Given the description of an element on the screen output the (x, y) to click on. 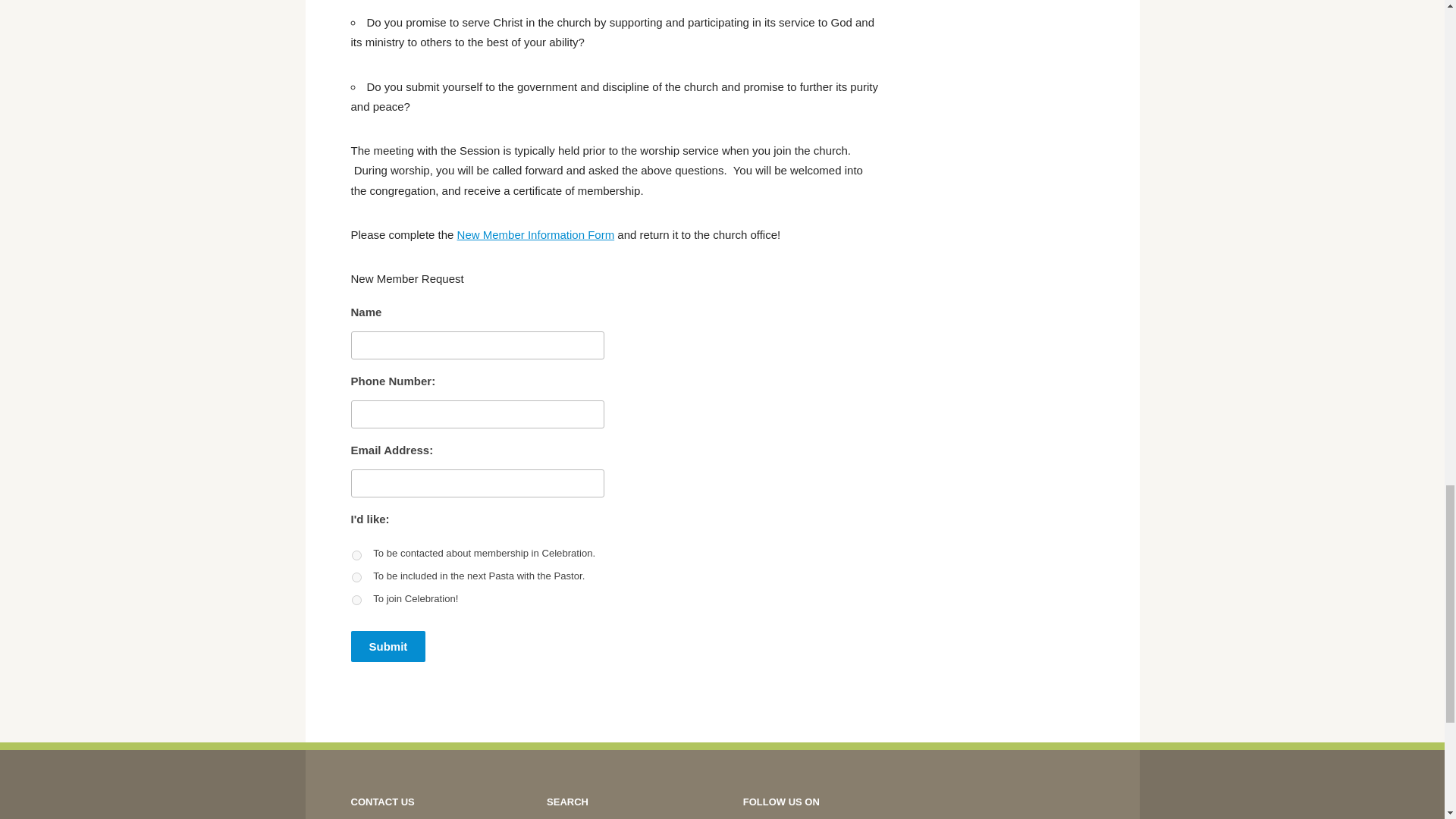
To be included in the next Pasta with the Pastor. (356, 577)
Submit (387, 645)
To be contacted about membership in Celebration. (356, 555)
To join Celebration! (356, 600)
